Given the description of an element on the screen output the (x, y) to click on. 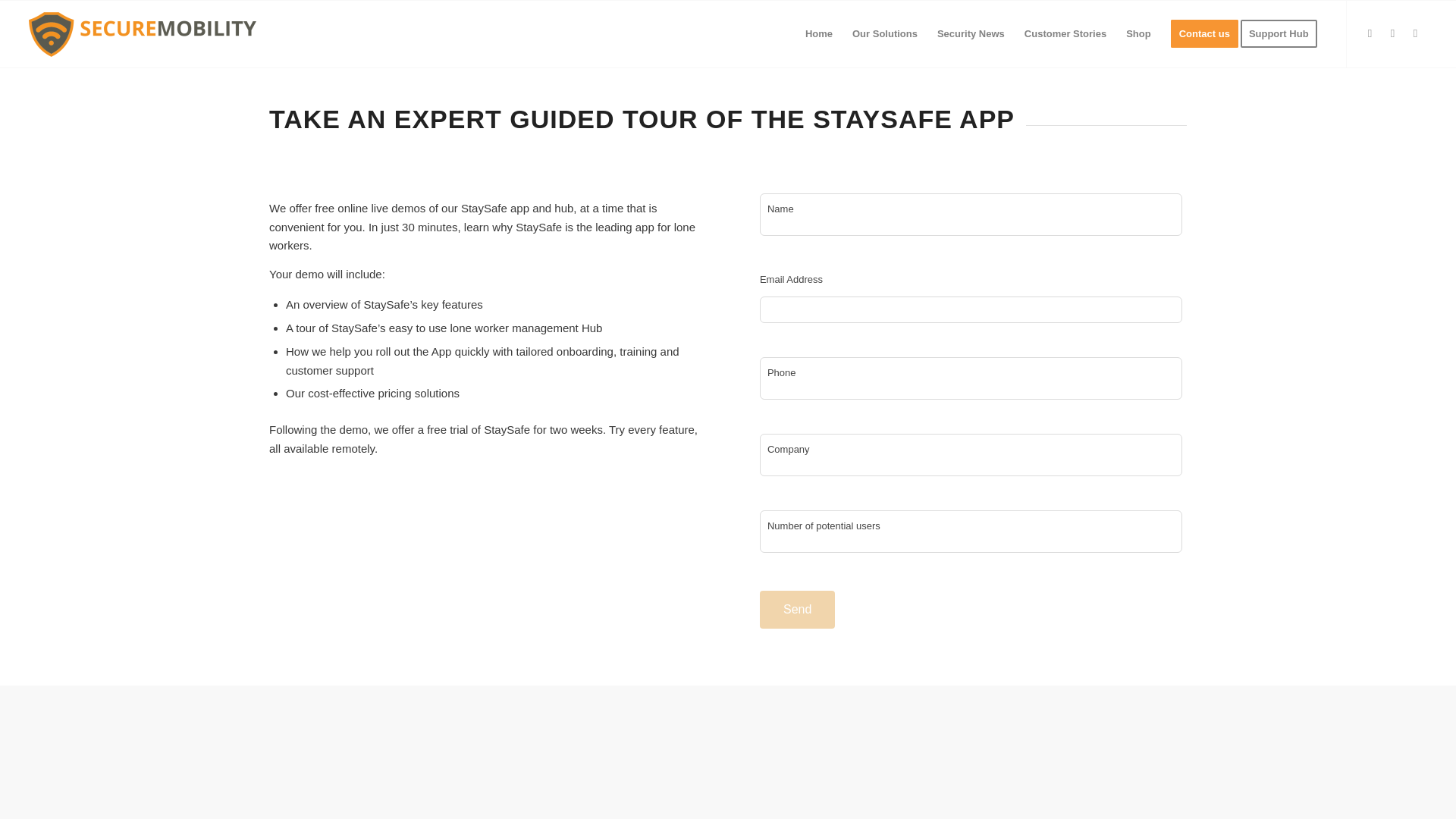
Facebook (1393, 33)
Customer Stories (1065, 33)
Contact us (1203, 33)
Support Hub (1283, 33)
Our Solutions (885, 33)
X (1369, 33)
LinkedIn (1415, 33)
Send (797, 609)
Security News (970, 33)
